Given the description of an element on the screen output the (x, y) to click on. 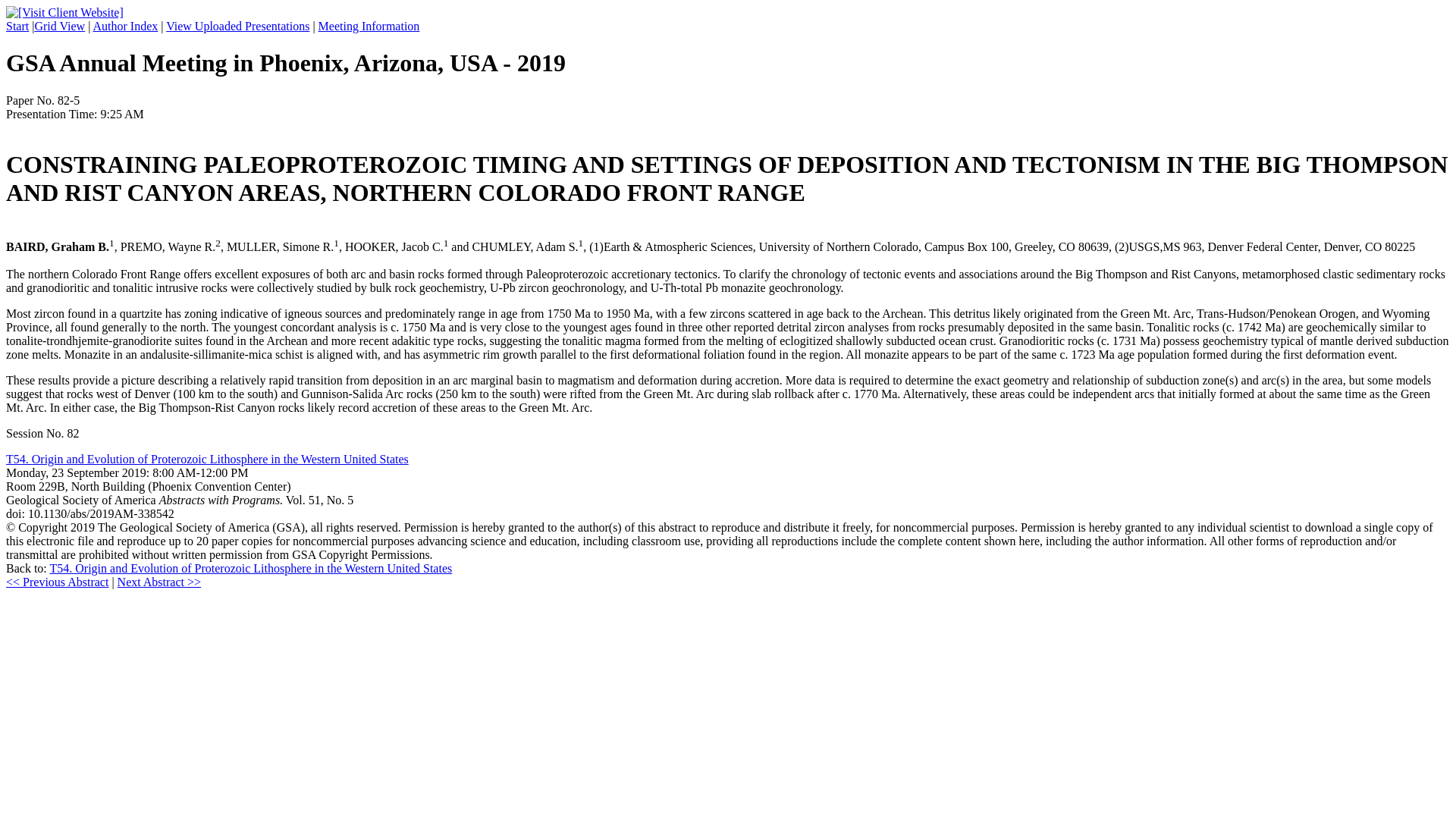
Meeting Information (369, 25)
Author Index (125, 25)
View Uploaded Presentations (236, 25)
Start (17, 25)
Grid View (58, 25)
